Given the description of an element on the screen output the (x, y) to click on. 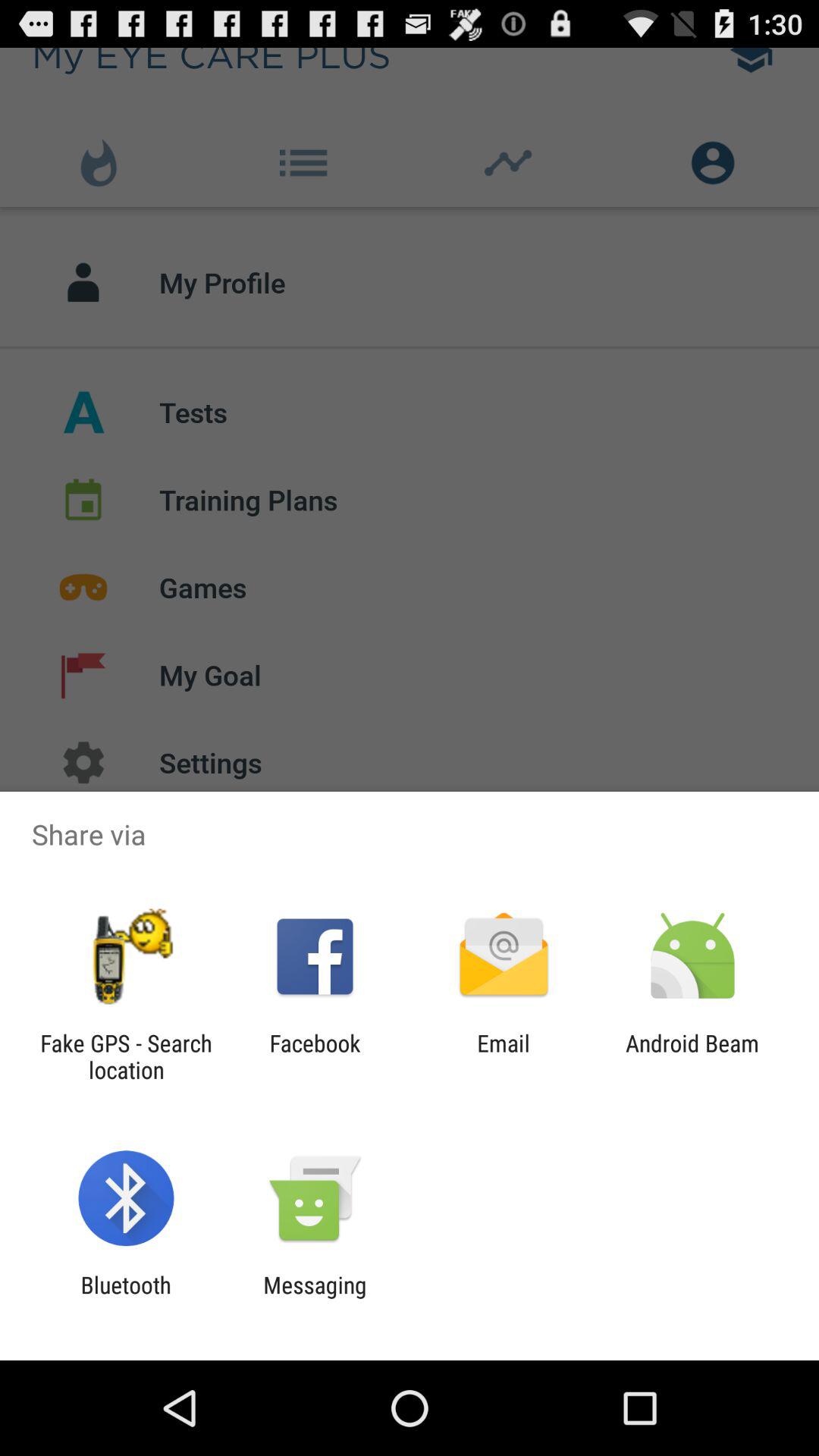
flip until fake gps search item (125, 1056)
